Given the description of an element on the screen output the (x, y) to click on. 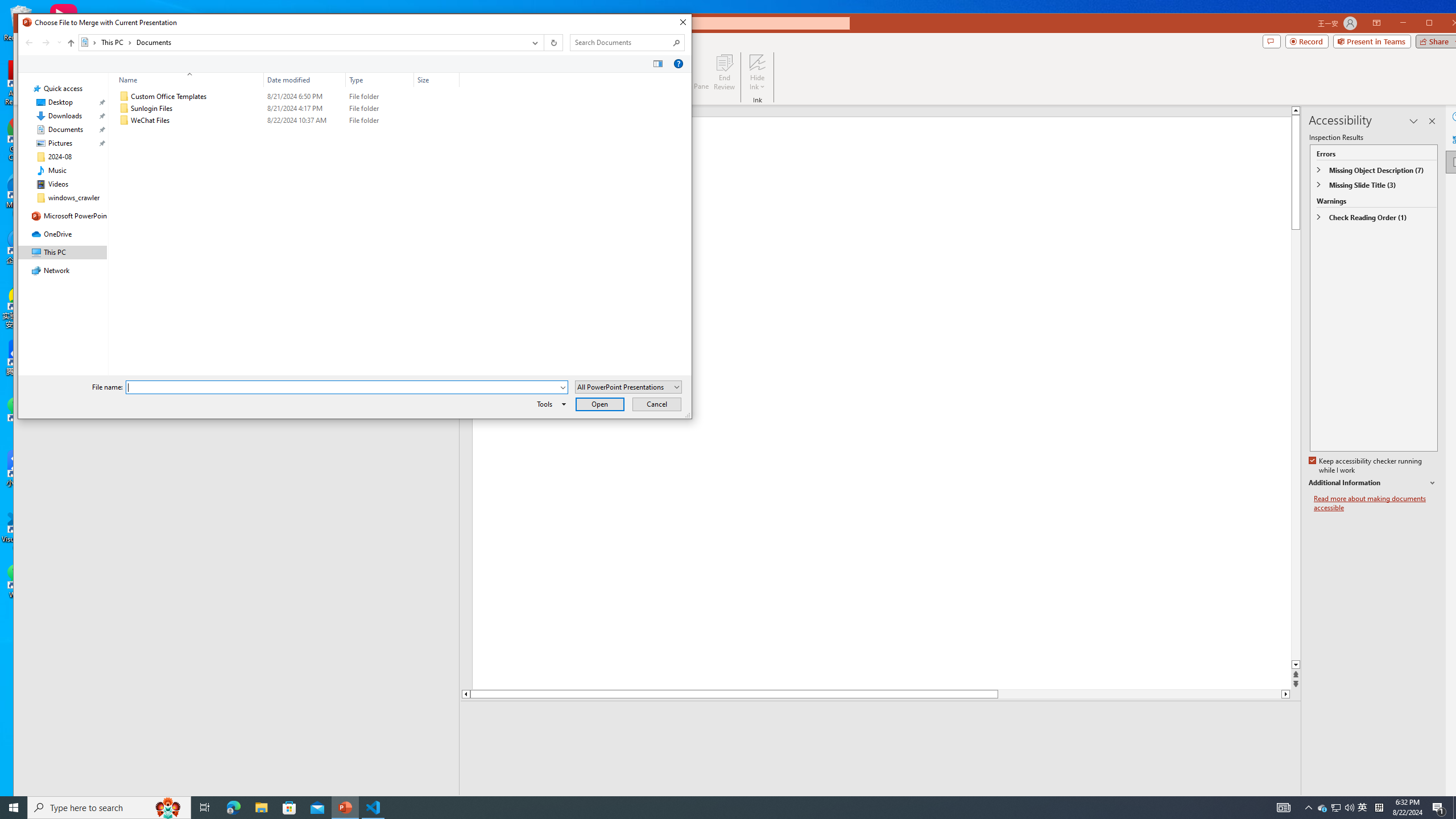
Address: Documents (301, 42)
Sunlogin Files (286, 108)
Date modified (304, 79)
Filter dropdown (453, 79)
Cancel (656, 404)
File name: (346, 386)
Back (Alt + Left Arrow) (28, 42)
Up to "This PC" (Alt + Up Arrow) (71, 42)
&Help (678, 63)
Slide Show Previous On (1217, 802)
Read more about making documents accessible (1375, 502)
